Given the description of an element on the screen output the (x, y) to click on. 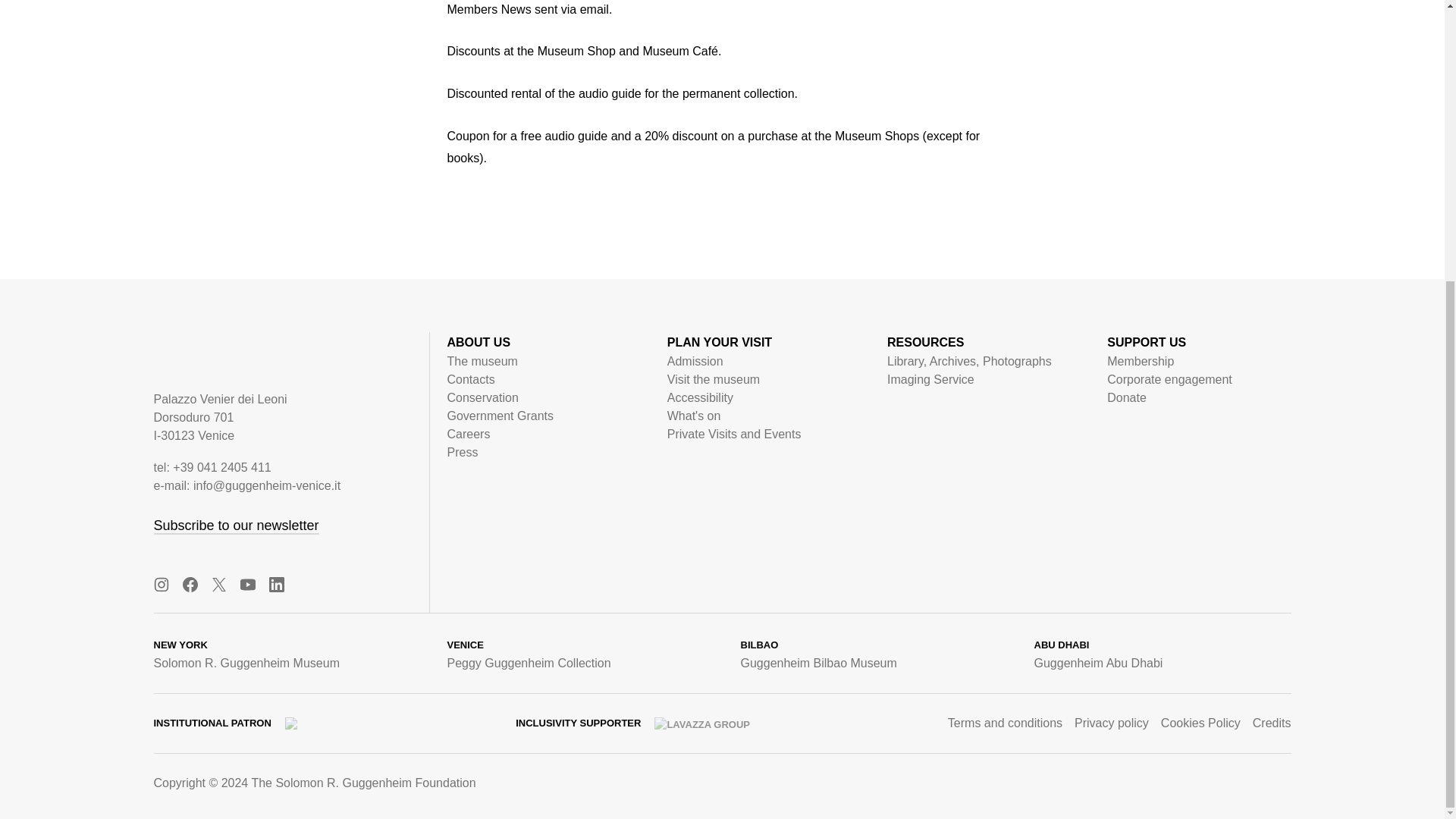
Subscribe to our newsletter (235, 525)
Conservation (482, 397)
The museum (482, 360)
Contacts (470, 379)
ABOUT US (478, 341)
Government Grants (500, 415)
